Given the description of an element on the screen output the (x, y) to click on. 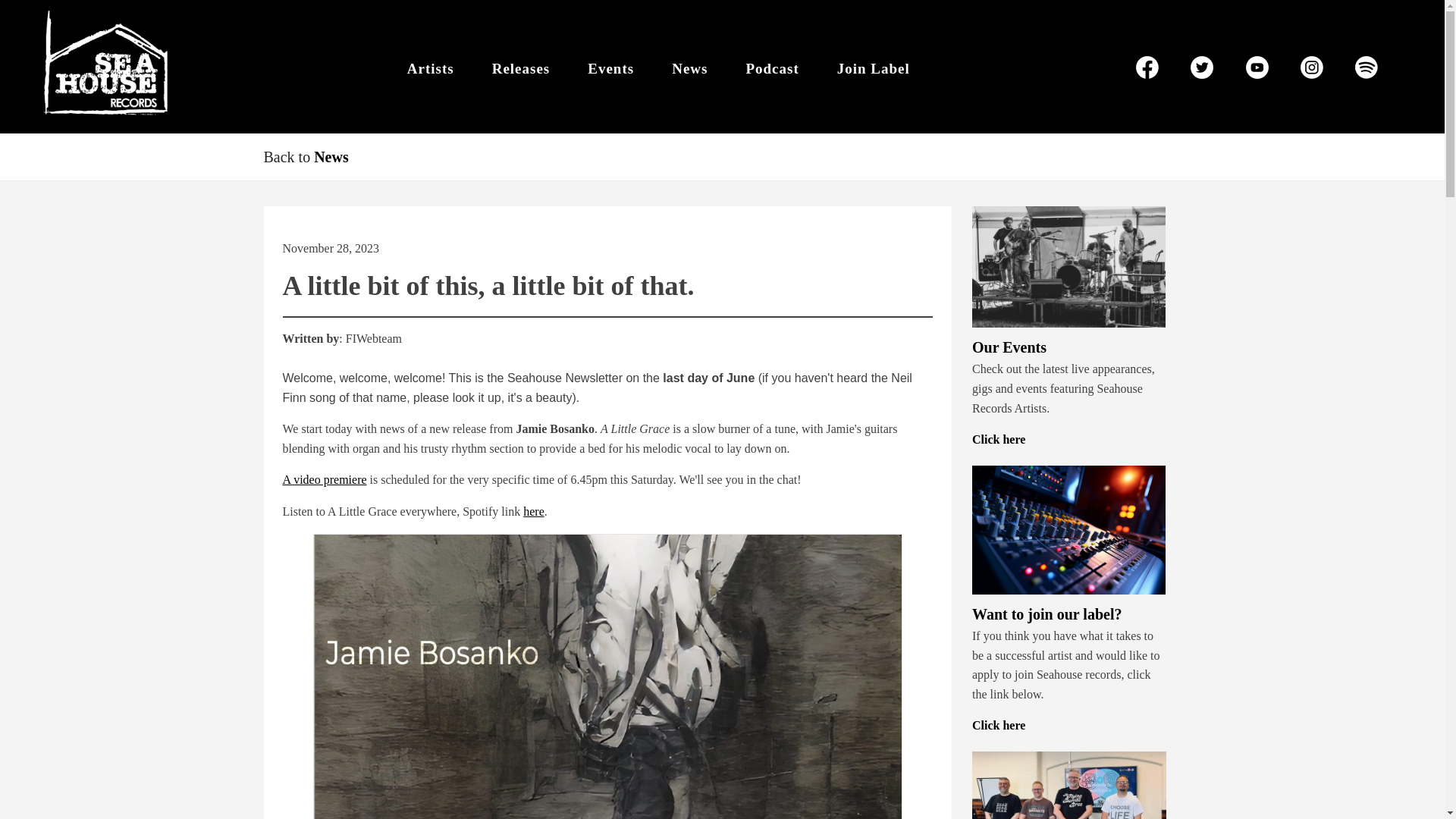
Podcast (771, 68)
News (331, 156)
here (533, 511)
A video premiere (324, 479)
Join Label (873, 68)
Releases (521, 68)
Events (610, 68)
Artists (430, 68)
News (689, 68)
